Given the description of an element on the screen output the (x, y) to click on. 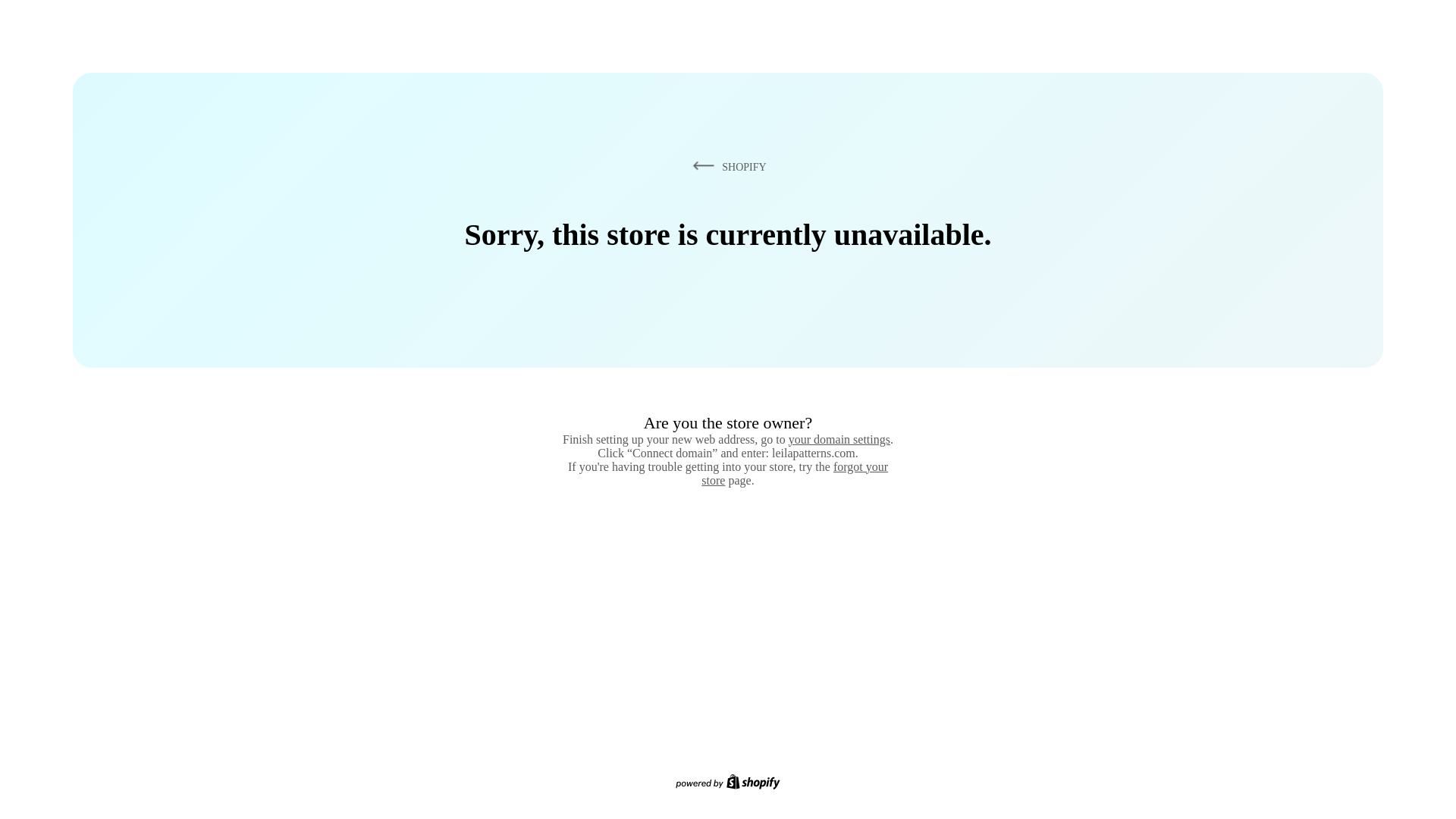
your domain settings (839, 439)
SHOPIFY (726, 166)
forgot your store (794, 473)
